Given the description of an element on the screen output the (x, y) to click on. 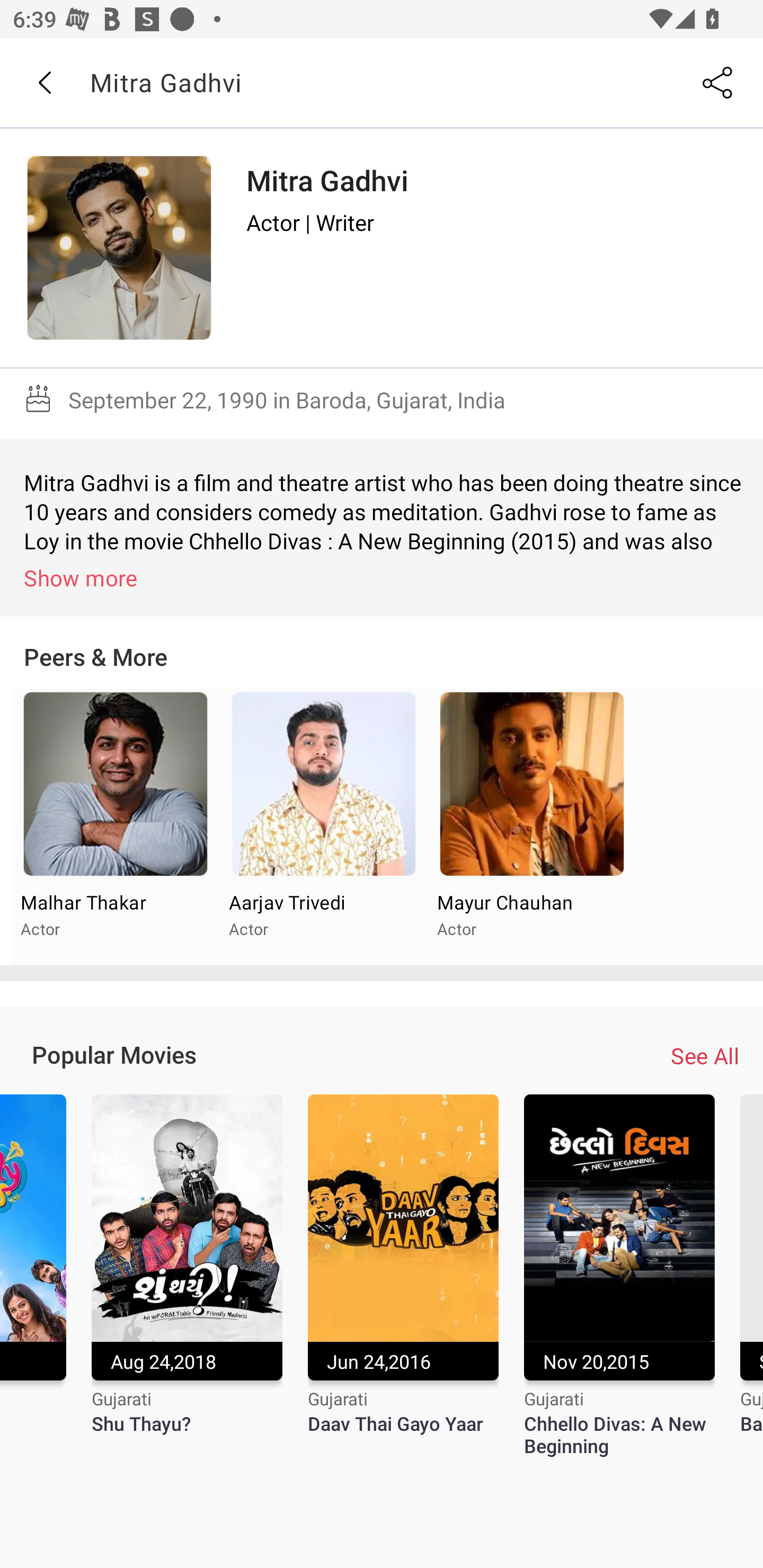
Back (44, 82)
Show more (384, 577)
Malhar Thakar Actor (115, 826)
Aarjav Trivedi Actor (323, 826)
Mayur Chauhan Actor (531, 826)
See All (704, 1055)
Aug 24,2018 Gujarati Shu Thayu? (186, 1276)
Jun 24,2016 Gujarati Daav Thai Gayo Yaar (402, 1276)
